Given the description of an element on the screen output the (x, y) to click on. 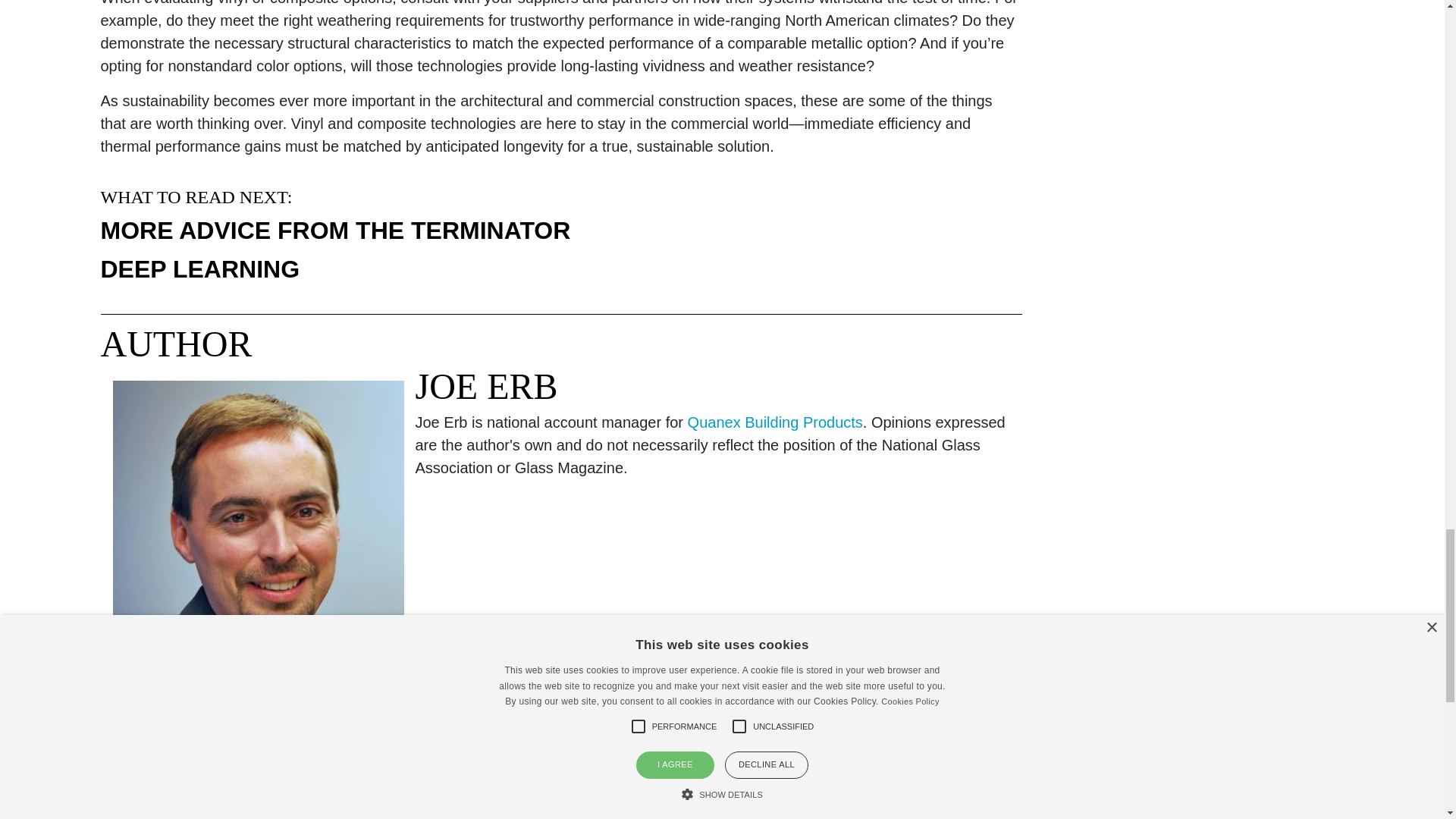
DEEP LEARNING (199, 268)
Quanex Building Products (775, 422)
JOE ERB (485, 386)
Deep Learning (199, 268)
MORE ADVICE FROM THE TERMINATOR (335, 230)
More Advice from The Terminator (335, 230)
